Given the description of an element on the screen output the (x, y) to click on. 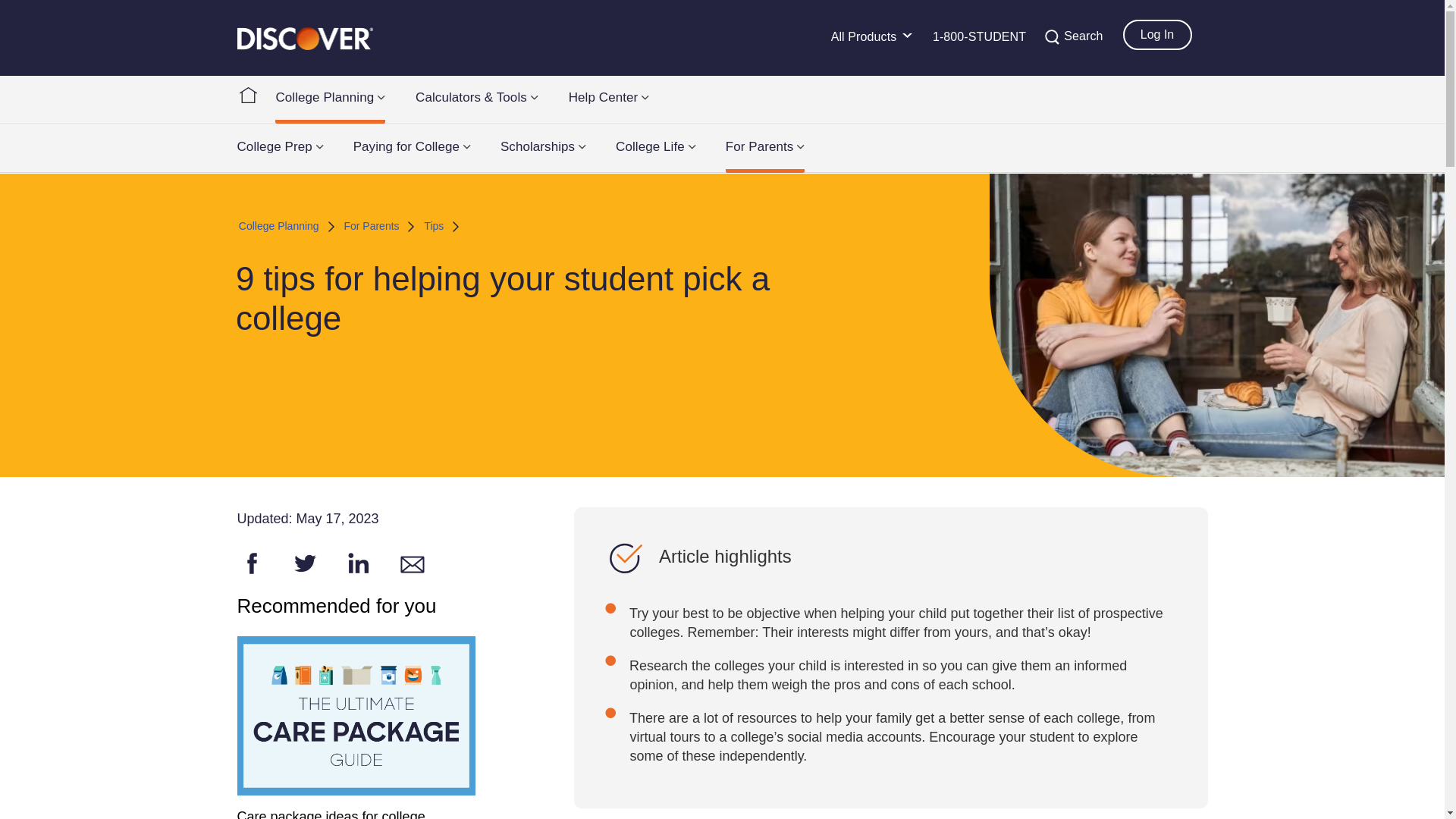
1-800-STUDENT (979, 44)
College Prep (279, 146)
9 tips for helping your student pick a college  (304, 562)
Log In (1156, 34)
College Planning (330, 99)
All Products (870, 44)
9 tips for helping your student pick a college  (357, 562)
9 tips for helping your student pick a college  (250, 562)
